Given the description of an element on the screen output the (x, y) to click on. 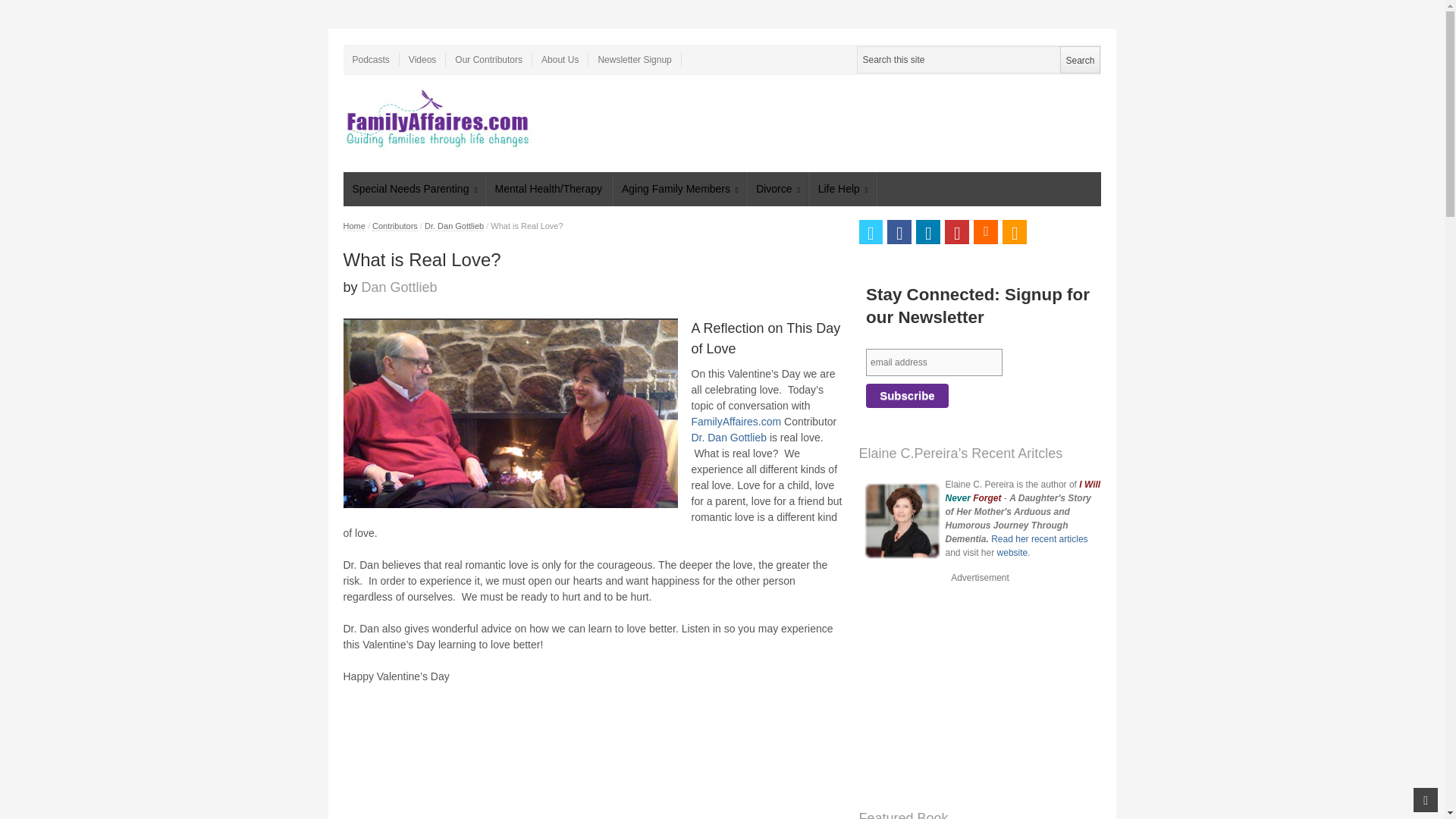
Aging Family Members (678, 188)
Special Needs Parenting (413, 188)
Life Help (842, 188)
Search this site (978, 59)
View all posts by Dan Gottlieb (399, 287)
Podcasts (370, 59)
Dr. Dan Gottlieb (454, 225)
Search (1079, 59)
Dan Gottlieb (399, 287)
Subscribe (907, 395)
